Given the description of an element on the screen output the (x, y) to click on. 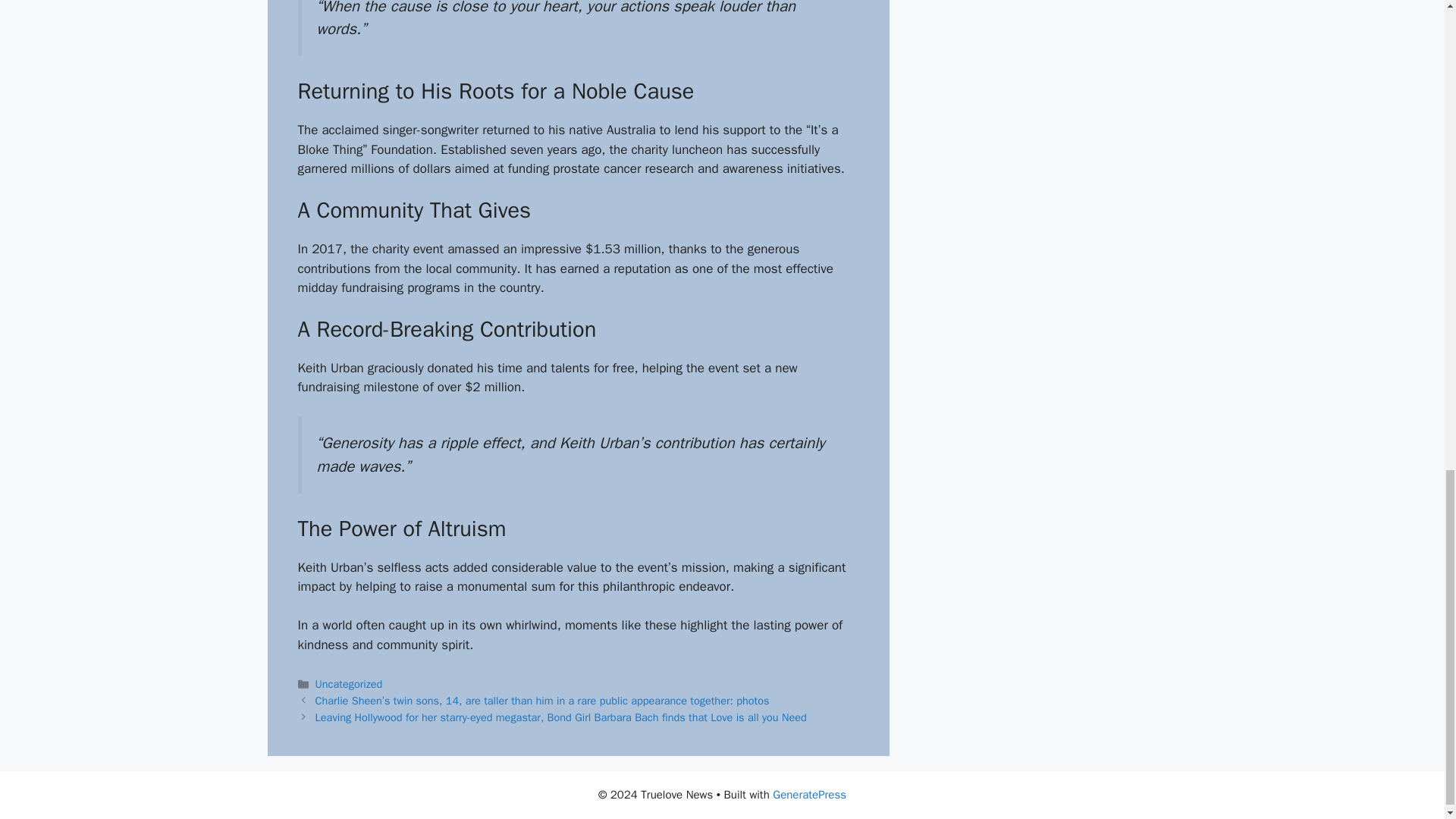
GeneratePress (809, 794)
Uncategorized (348, 684)
